Given the description of an element on the screen output the (x, y) to click on. 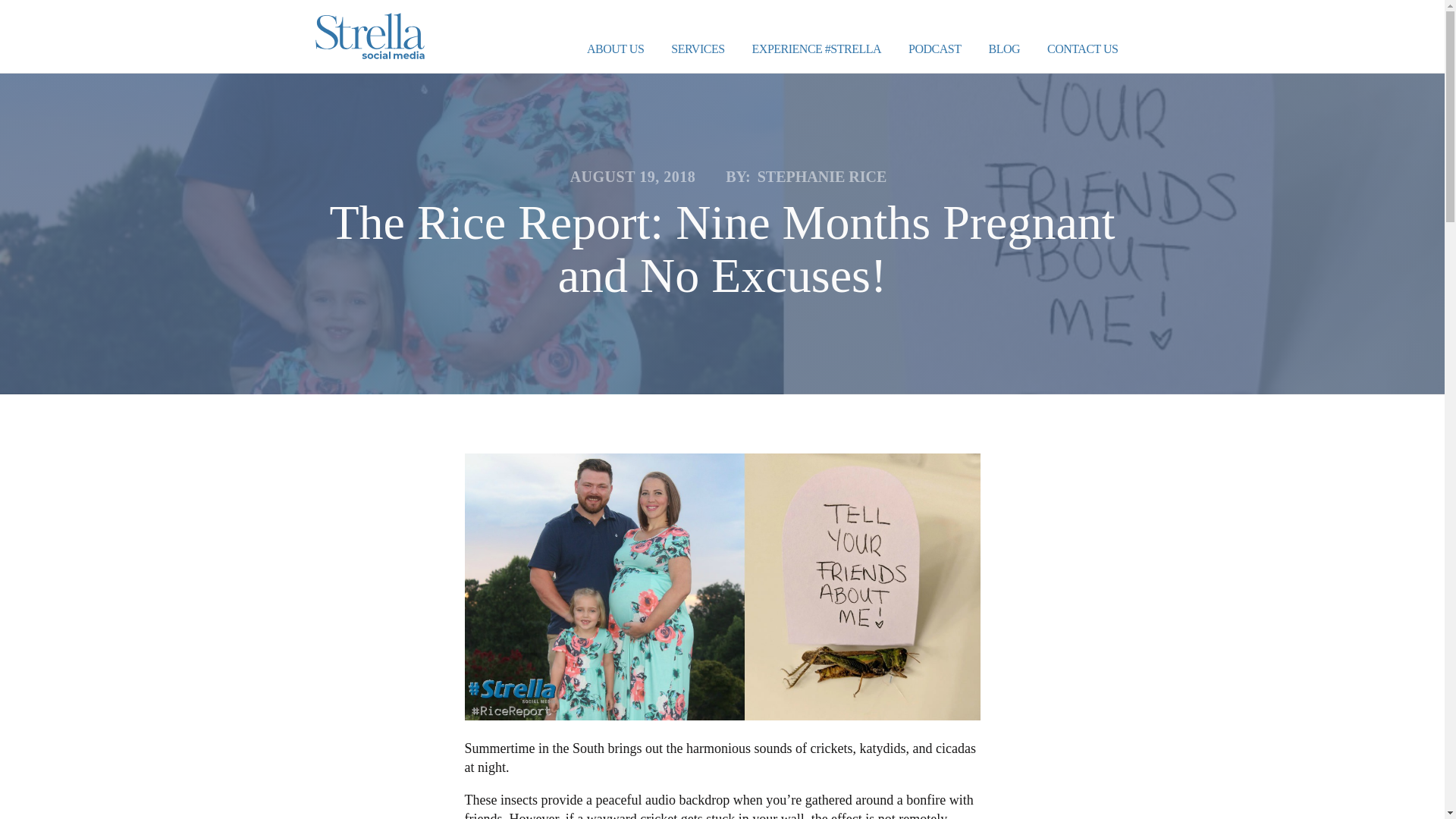
BLOG (1004, 49)
ABOUT US (615, 49)
CONTACT US (1082, 49)
SERVICES (698, 49)
PODCAST (934, 49)
